Given the description of an element on the screen output the (x, y) to click on. 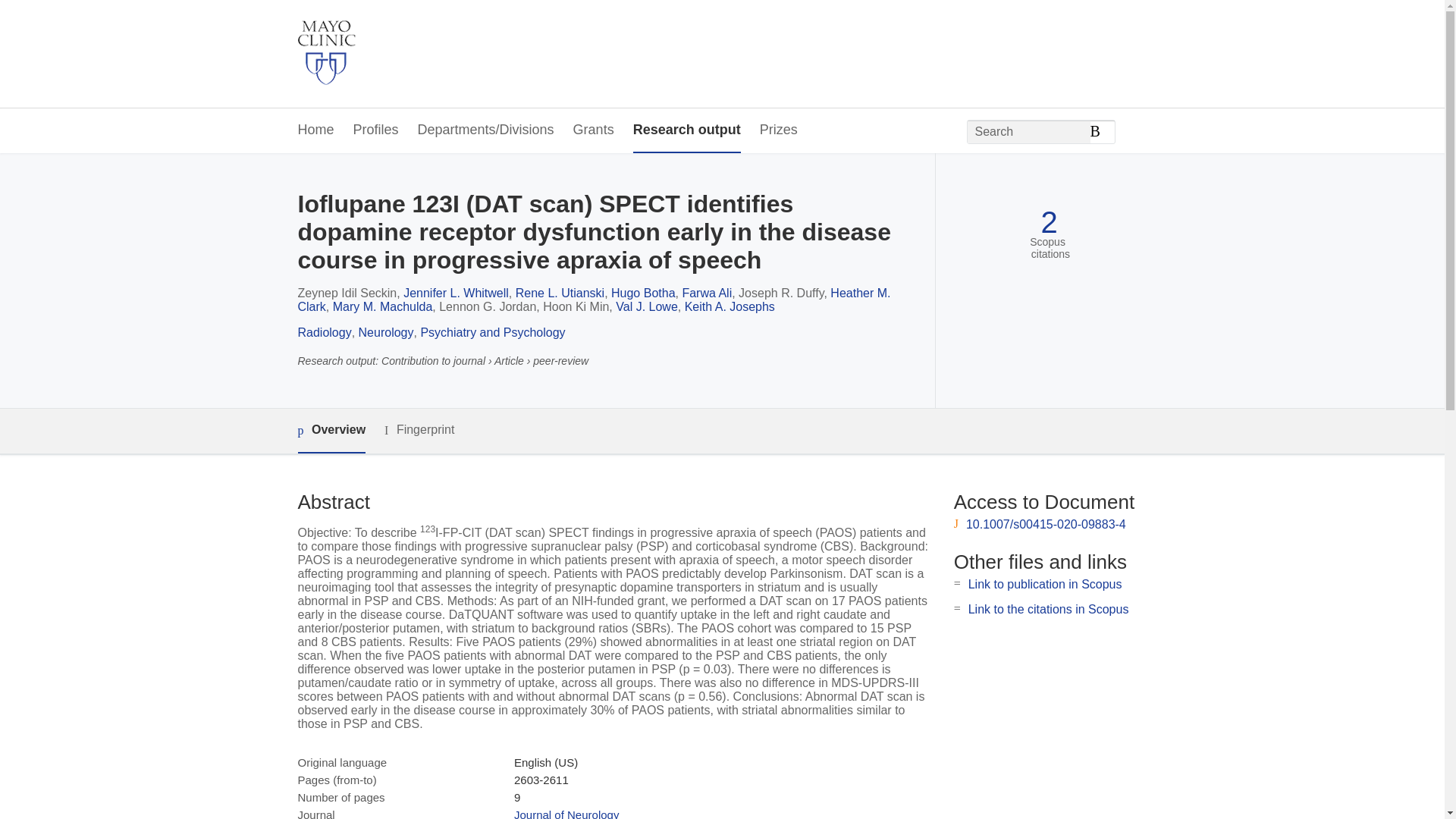
Val J. Lowe (646, 306)
Mary M. Machulda (382, 306)
Heather M. Clark (593, 299)
Psychiatry and Psychology (492, 332)
Journal of Neurology (565, 813)
Link to the citations in Scopus (1048, 608)
Rene L. Utianski (559, 292)
Farwa Ali (706, 292)
Jennifer L. Whitwell (455, 292)
Profiles (375, 130)
Hugo Botha (643, 292)
Overview (331, 430)
Neurology (385, 332)
Grants (593, 130)
